Given the description of an element on the screen output the (x, y) to click on. 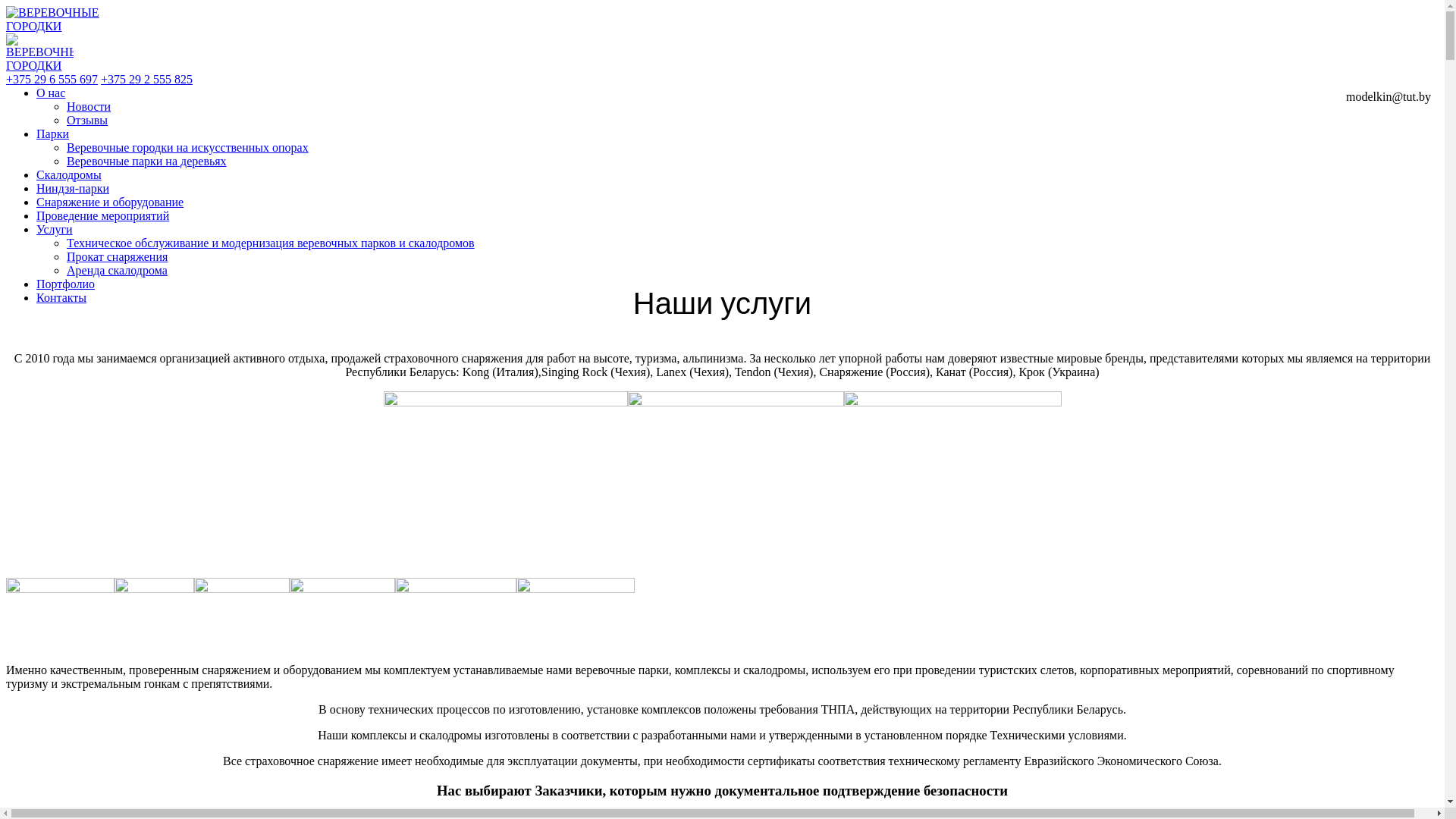
+375 29 6 555 697 Element type: text (51, 78)
+375 29 2 555 825 Element type: text (146, 78)
